Given the description of an element on the screen output the (x, y) to click on. 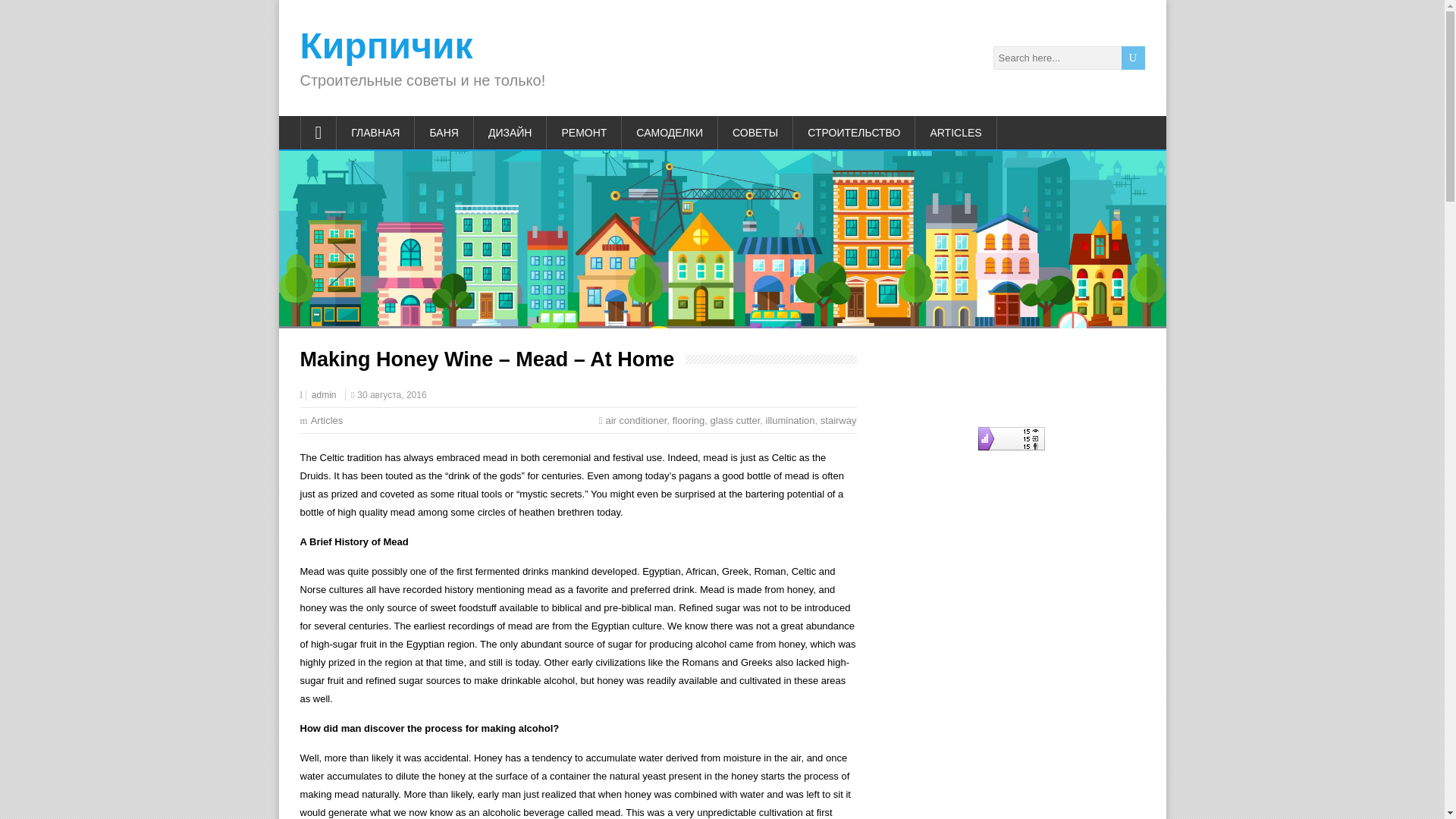
U (1132, 57)
U (1132, 57)
stairway (839, 419)
illumination (790, 419)
glass cutter (735, 419)
admin (323, 394)
Articles (327, 419)
flooring (688, 419)
ARTICLES (955, 132)
U (1132, 57)
